Given the description of an element on the screen output the (x, y) to click on. 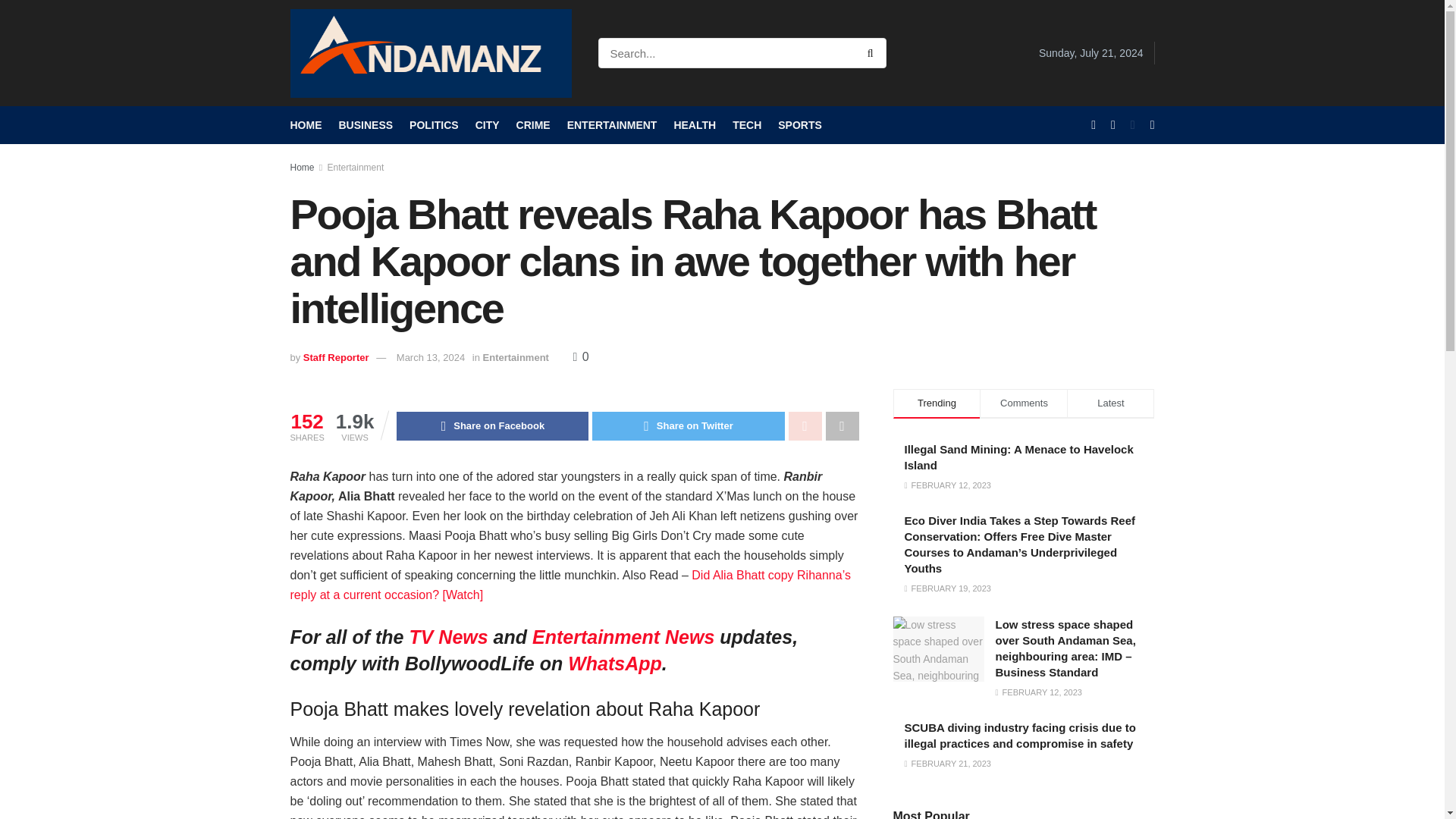
BUSINESS (365, 125)
Home (301, 167)
Share on Facebook (492, 425)
0 (581, 356)
Entertainment (515, 357)
CRIME (533, 125)
SPORTS (799, 125)
Entertainment (355, 167)
Staff Reporter (335, 357)
HEALTH (694, 125)
March 13, 2024 (430, 357)
ENTERTAINMENT (612, 125)
POLITICS (433, 125)
